Given the description of an element on the screen output the (x, y) to click on. 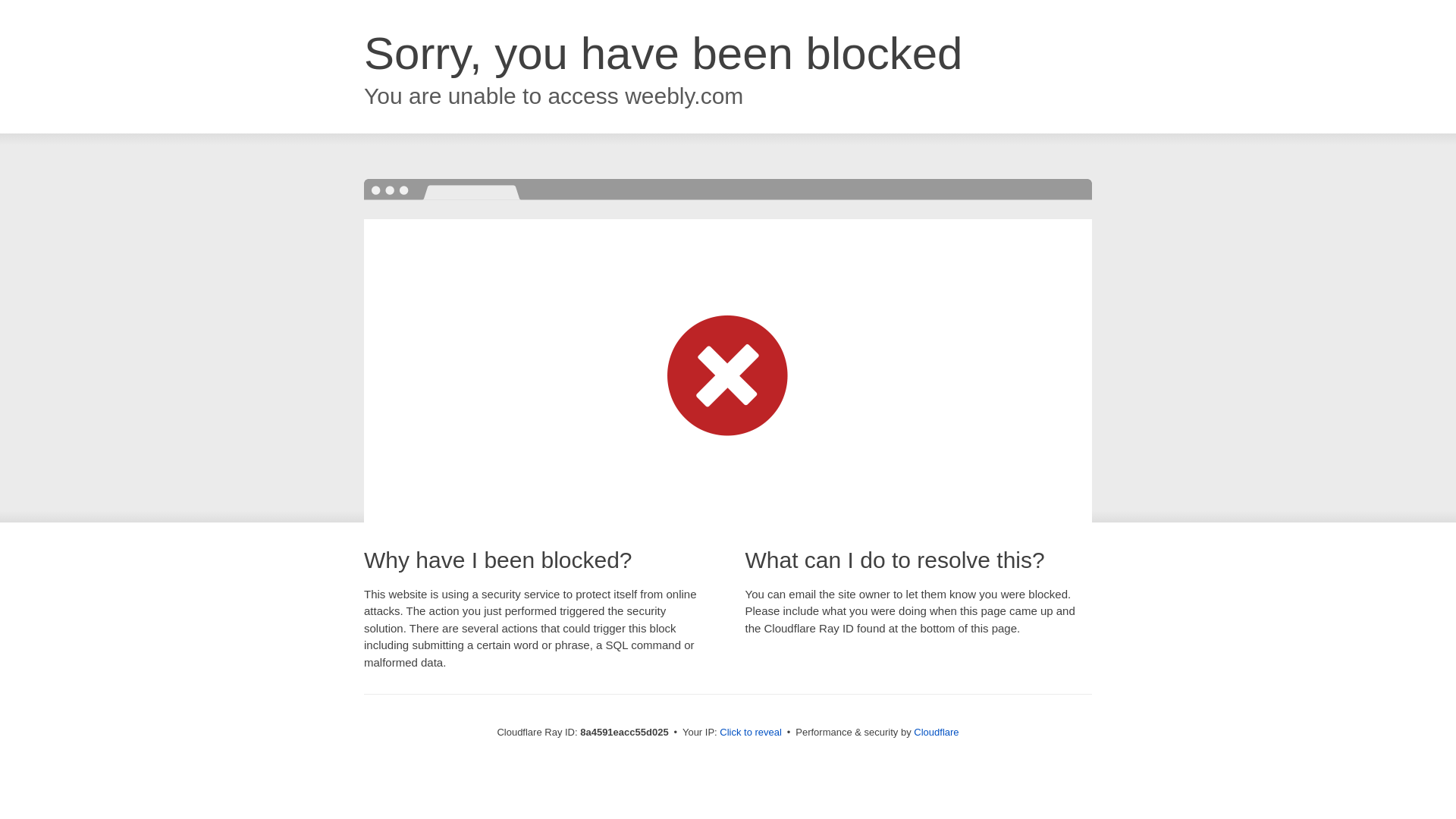
Click to reveal (750, 732)
Cloudflare (936, 731)
